Given the description of an element on the screen output the (x, y) to click on. 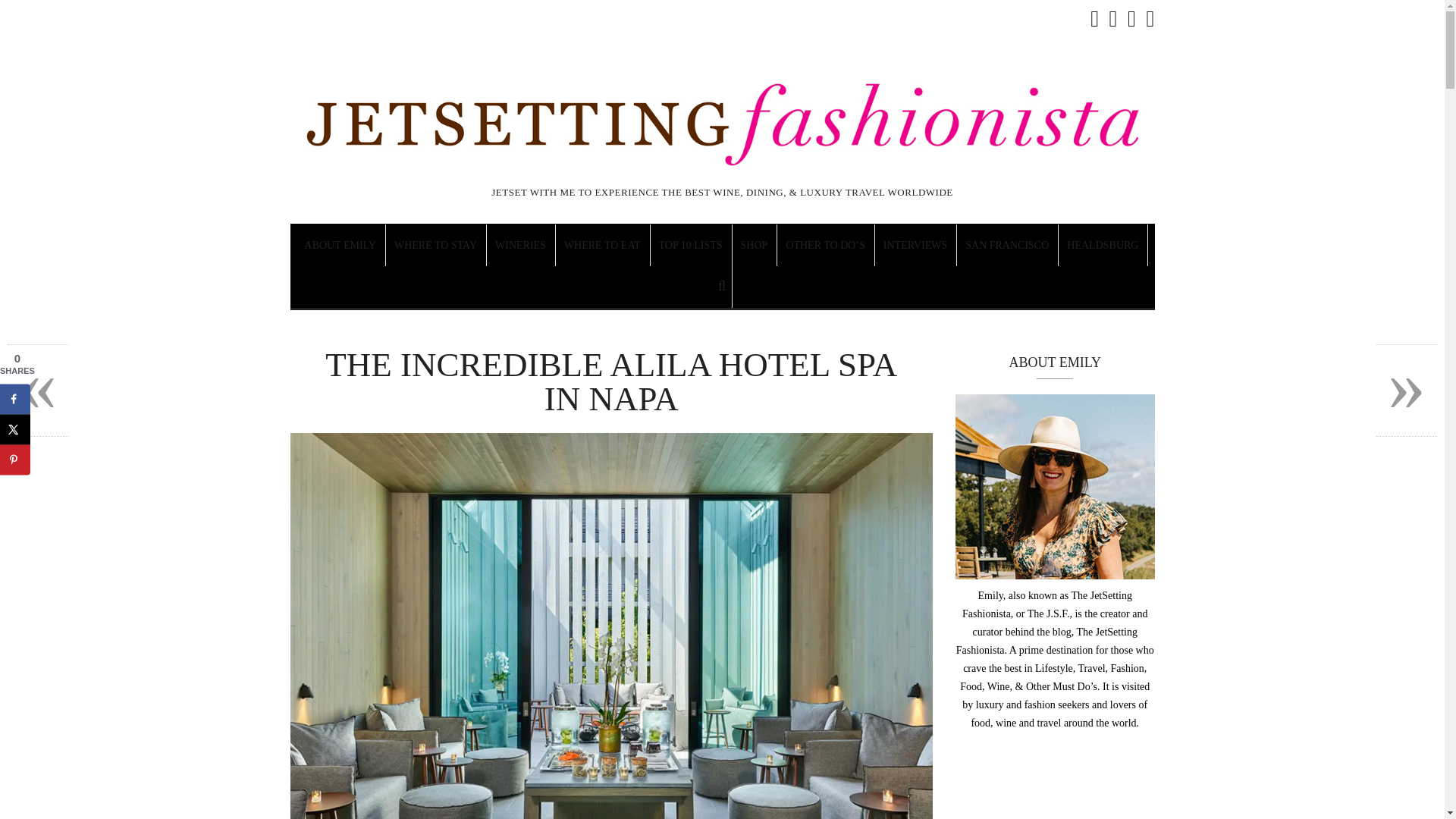
Share on X (15, 429)
Share on Facebook (15, 399)
Save to Pinterest (15, 459)
